Given the description of an element on the screen output the (x, y) to click on. 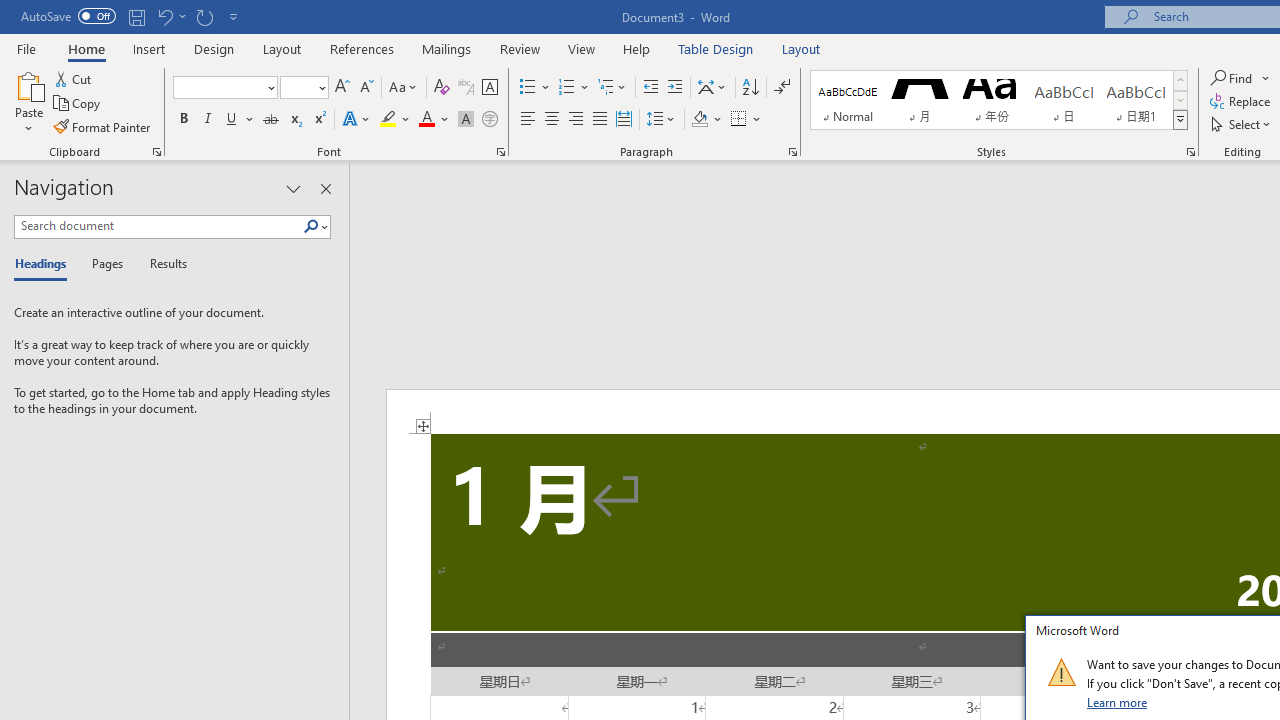
Align Right (575, 119)
Phonetic Guide... (465, 87)
Pages (105, 264)
Headings (45, 264)
Subscript (294, 119)
Search document (157, 226)
Superscript (319, 119)
